Given the description of an element on the screen output the (x, y) to click on. 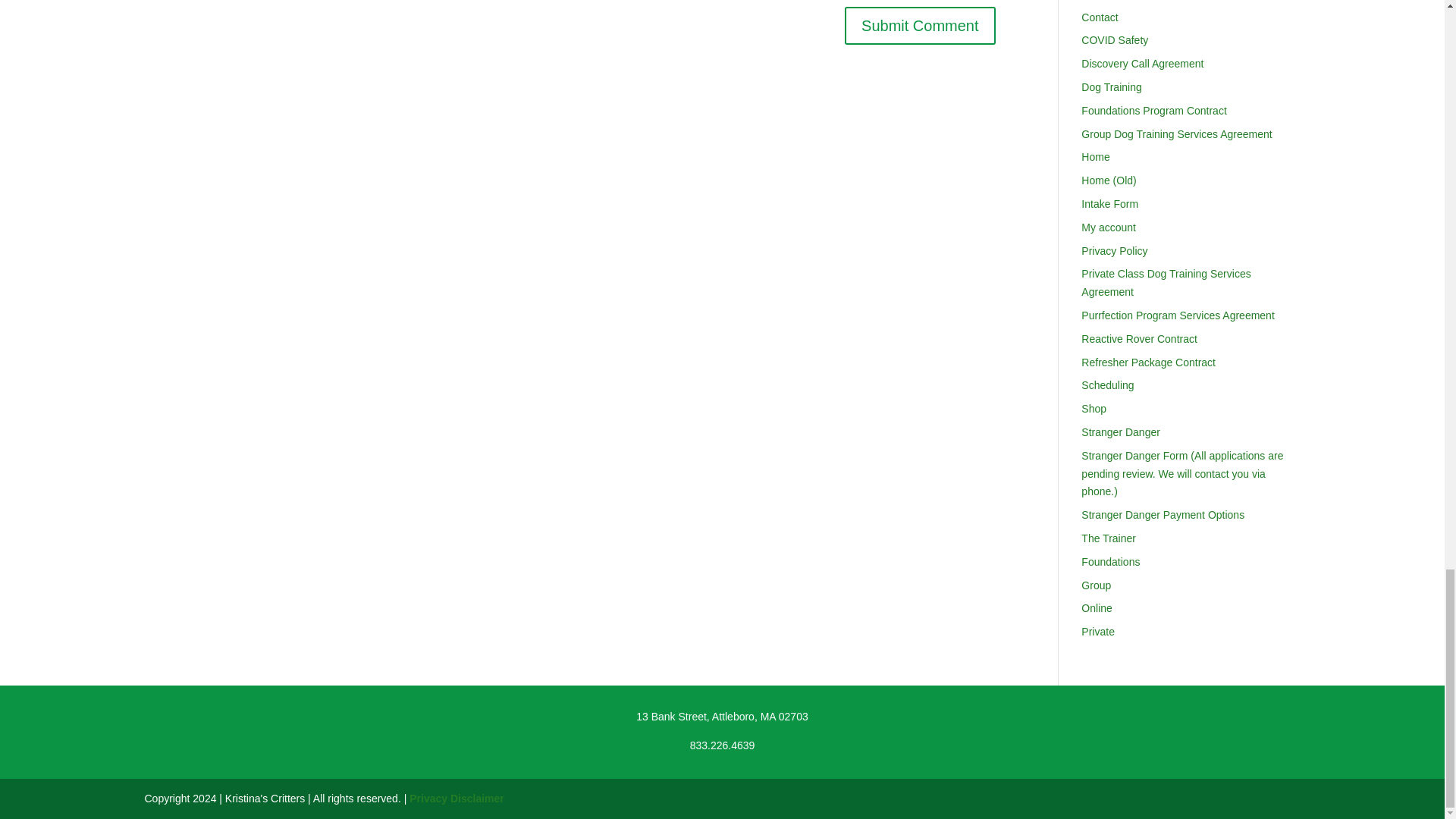
Submit Comment (919, 25)
View our privacy policy (456, 798)
